Given the description of an element on the screen output the (x, y) to click on. 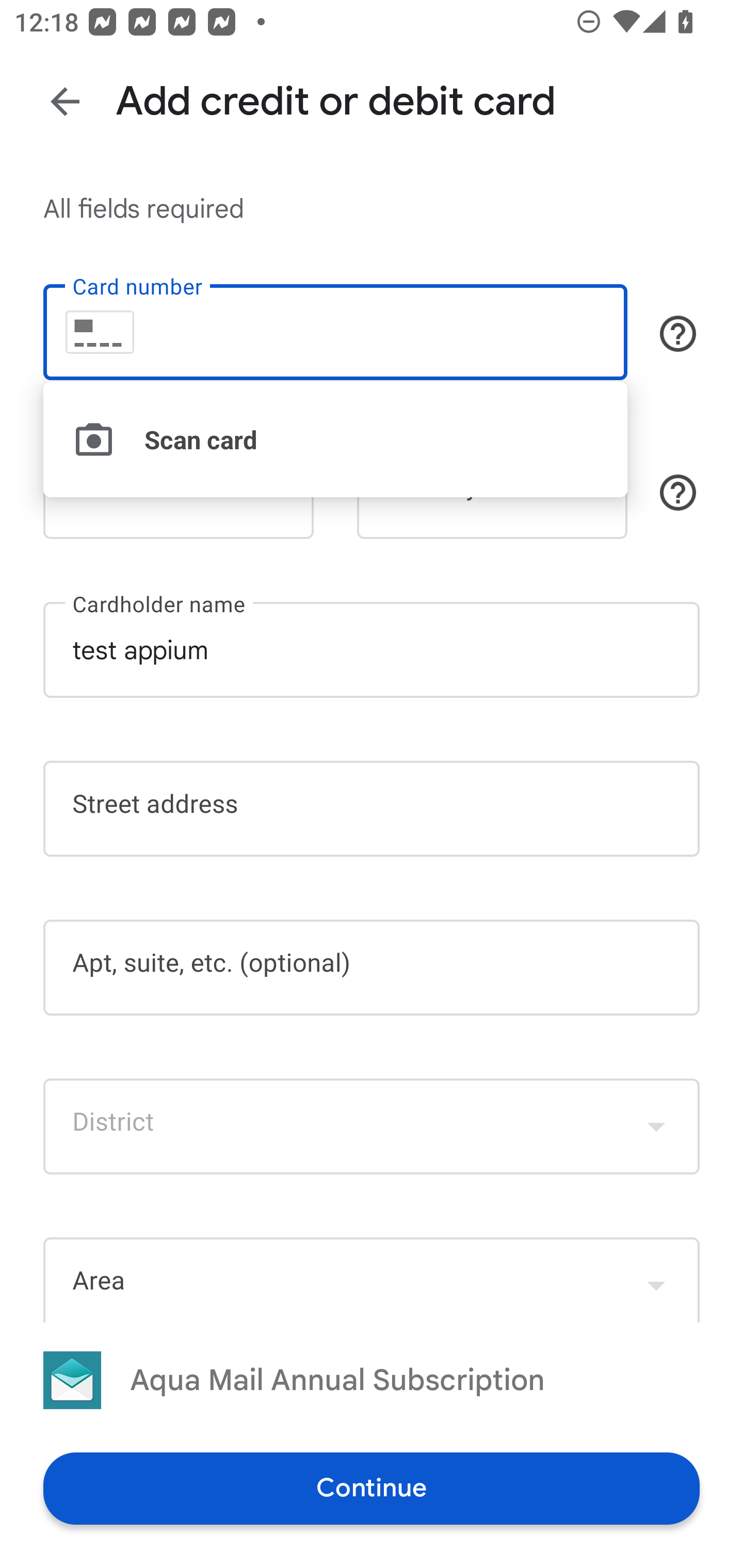
Back (64, 101)
Card number (335, 331)
Button, shows cards that are accepted for payment (677, 333)
Security code help (677, 492)
test appium (371, 649)
Street address (371, 808)
Apt, suite, etc. (optional) (371, 968)
District (371, 1126)
Show dropdown menu (655, 1126)
Area (371, 1279)
Show dropdown menu (655, 1281)
Continue (371, 1487)
